Given the description of an element on the screen output the (x, y) to click on. 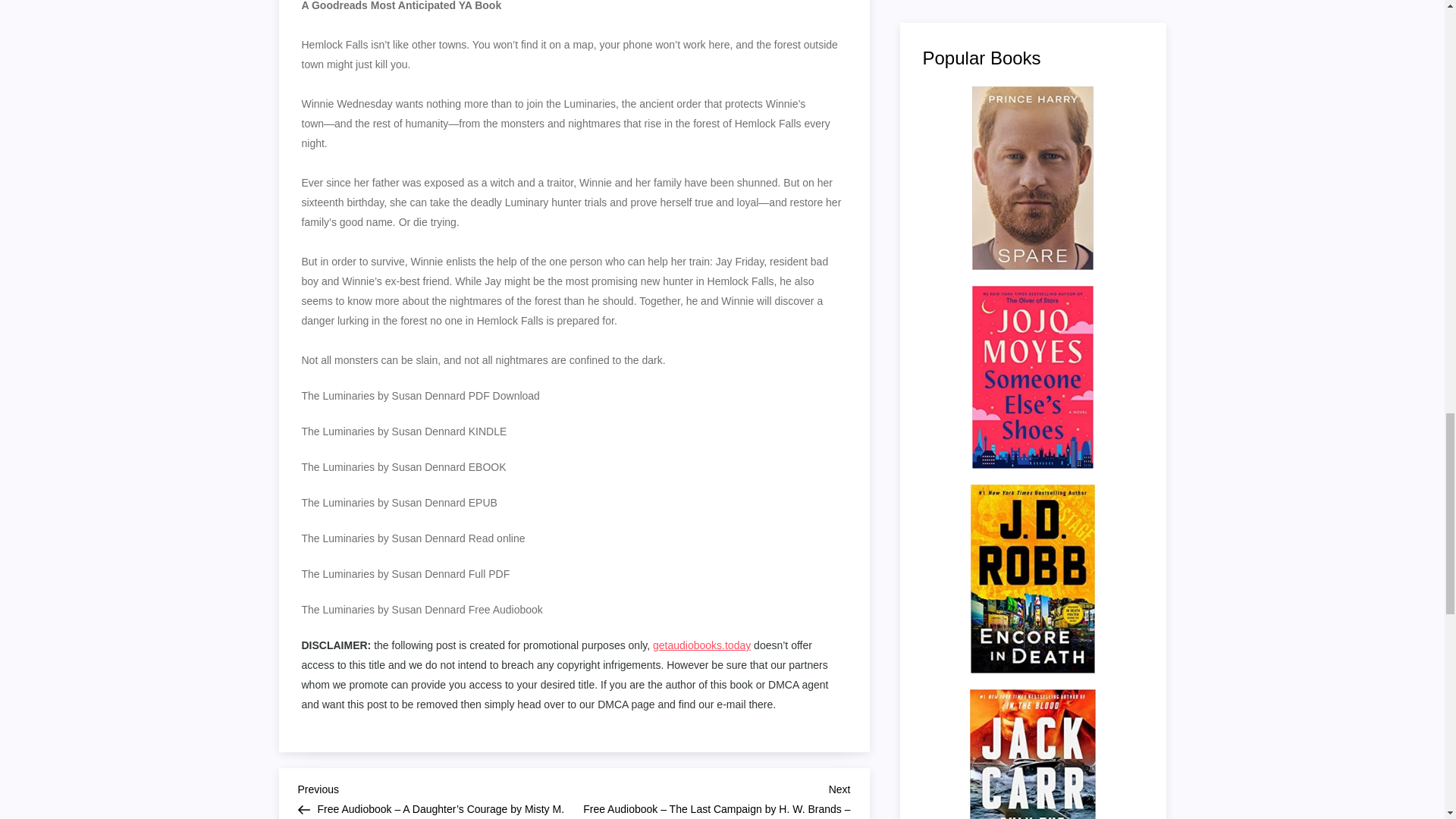
getaudiobooks.today (701, 645)
